Given the description of an element on the screen output the (x, y) to click on. 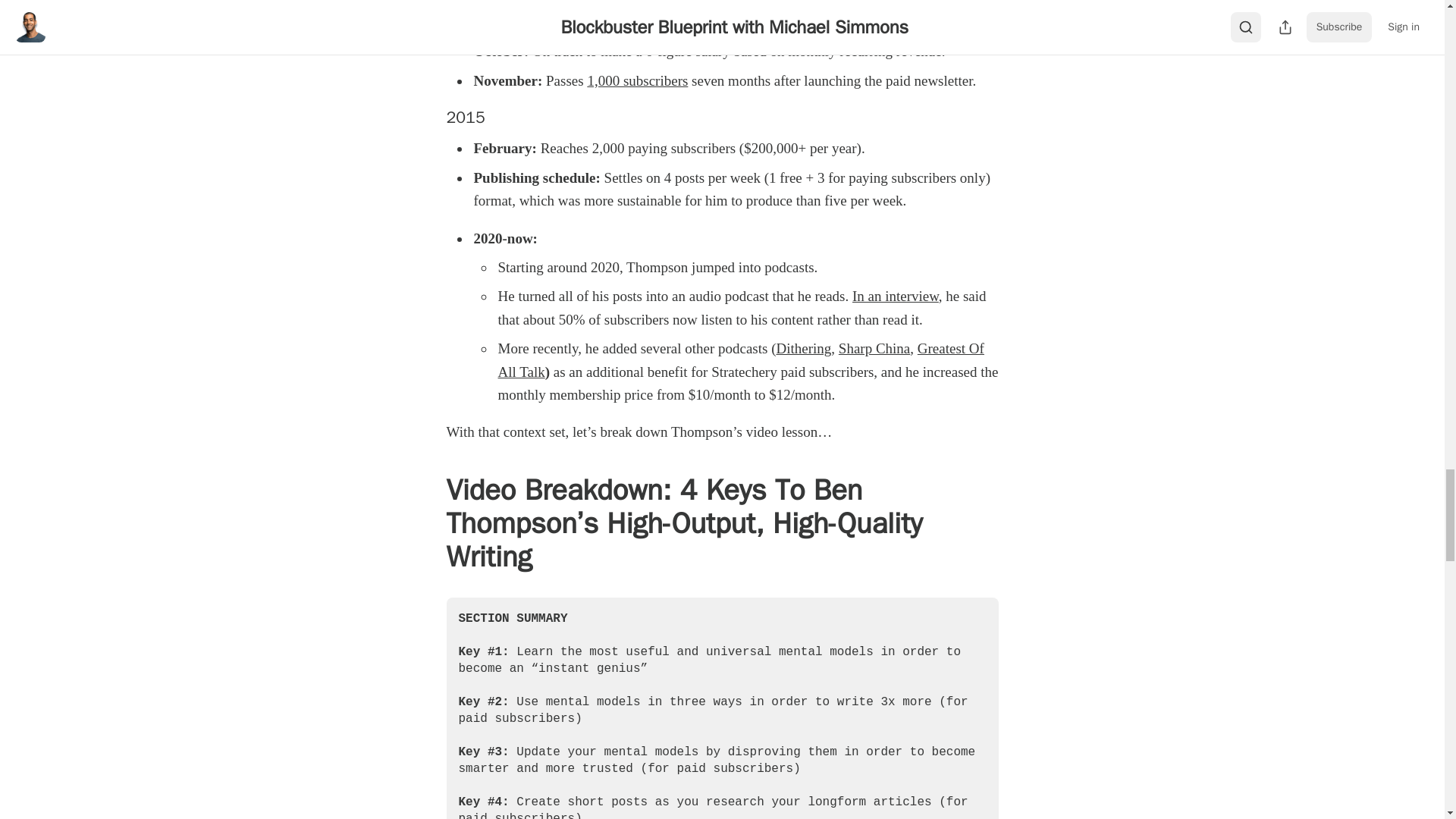
In an interview (895, 295)
1,000 subscribers (636, 80)
